Given the description of an element on the screen output the (x, y) to click on. 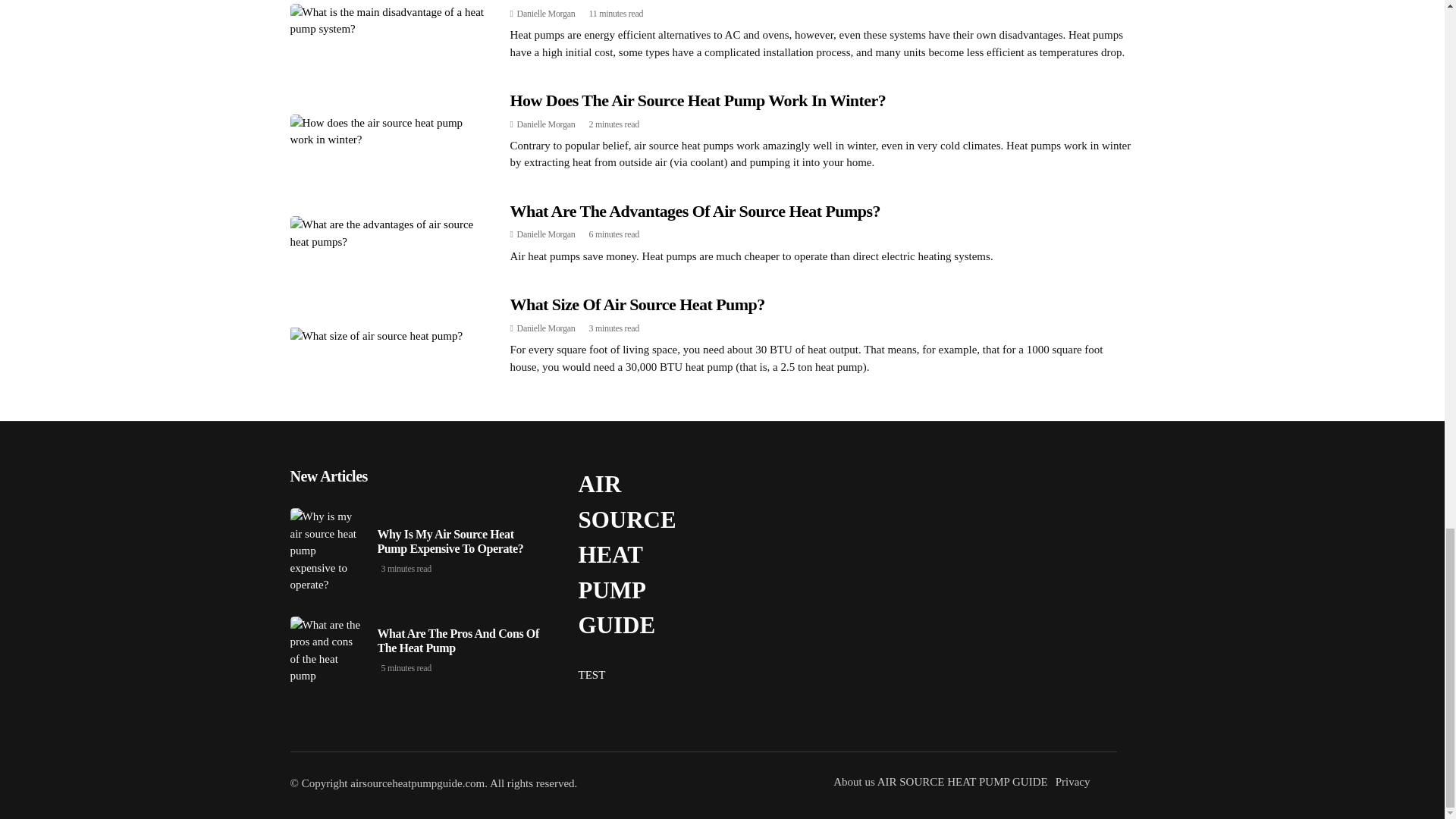
Danielle Morgan (545, 13)
What Size Of Air Source Heat Pump? (636, 303)
Posts by Danielle Morgan (545, 123)
Posts by Danielle Morgan (545, 234)
What Are The Advantages Of Air Source Heat Pumps? (694, 210)
Danielle Morgan (545, 327)
Posts by Danielle Morgan (545, 13)
Posts by Danielle Morgan (545, 327)
How Does The Air Source Heat Pump Work In Winter? (697, 99)
Danielle Morgan (545, 234)
Danielle Morgan (545, 123)
